Given the description of an element on the screen output the (x, y) to click on. 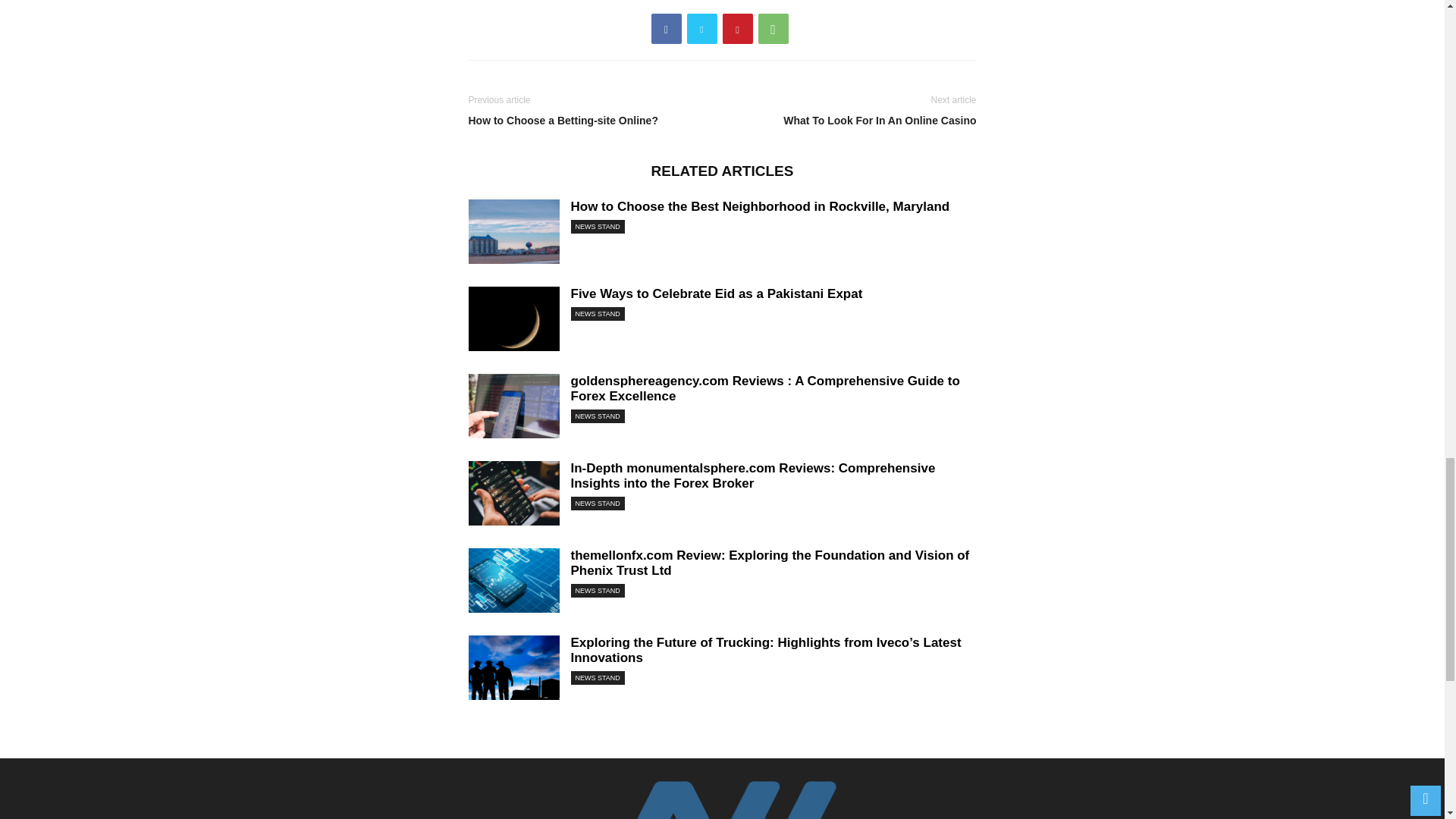
NEWS STAND (597, 590)
How to Choose a Betting-site Online? (591, 120)
NEWS STAND (597, 416)
WhatsApp (773, 28)
Pinterest (737, 28)
Twitter (702, 28)
NEWS STAND (597, 314)
NEWS STAND (597, 677)
